Given the description of an element on the screen output the (x, y) to click on. 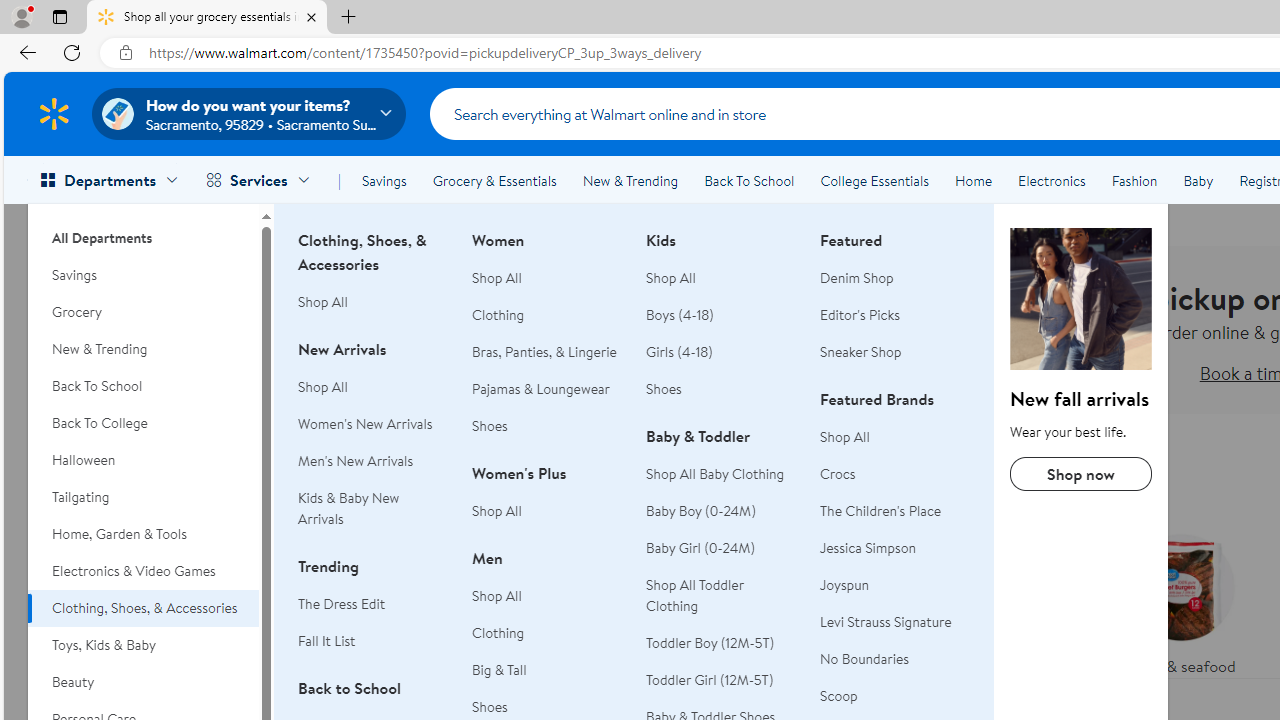
Tailgating (143, 497)
Bras, Panties, & Lingerie (544, 352)
Savings (384, 180)
Crocs (838, 473)
Pantry & Snacks (792, 650)
Walmart Homepage (53, 113)
Baby Girl (0-24M) (721, 547)
KidsShop AllBoys (4-18)Girls (4-18)Shoes (721, 326)
Clothing, Shoes, & Accessories  (1080, 299)
Grocery & Essentials (493, 180)
